Given the description of an element on the screen output the (x, y) to click on. 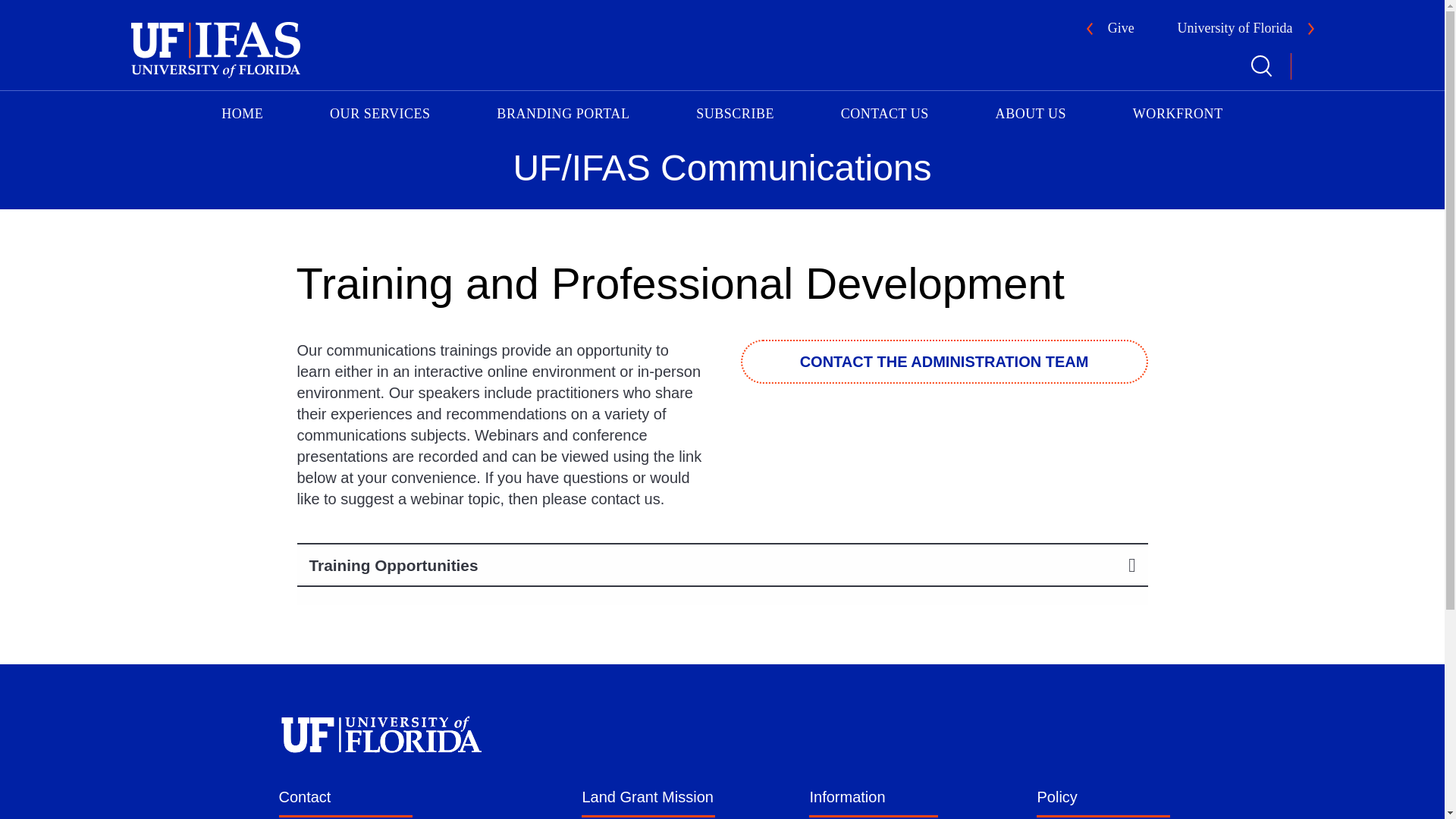
HOME (242, 111)
WORKFRONT (1177, 111)
Give (1110, 30)
SUBSCRIBE (735, 111)
University of Florida (1245, 30)
Search Link (1260, 65)
BRANDING PORTAL (562, 111)
ABOUT US (1031, 111)
OUR SERVICES (379, 111)
Toggle Search Form (1260, 65)
CONTACT US (884, 111)
CONTACT THE ADMINISTRATION TEAM (943, 361)
